Given the description of an element on the screen output the (x, y) to click on. 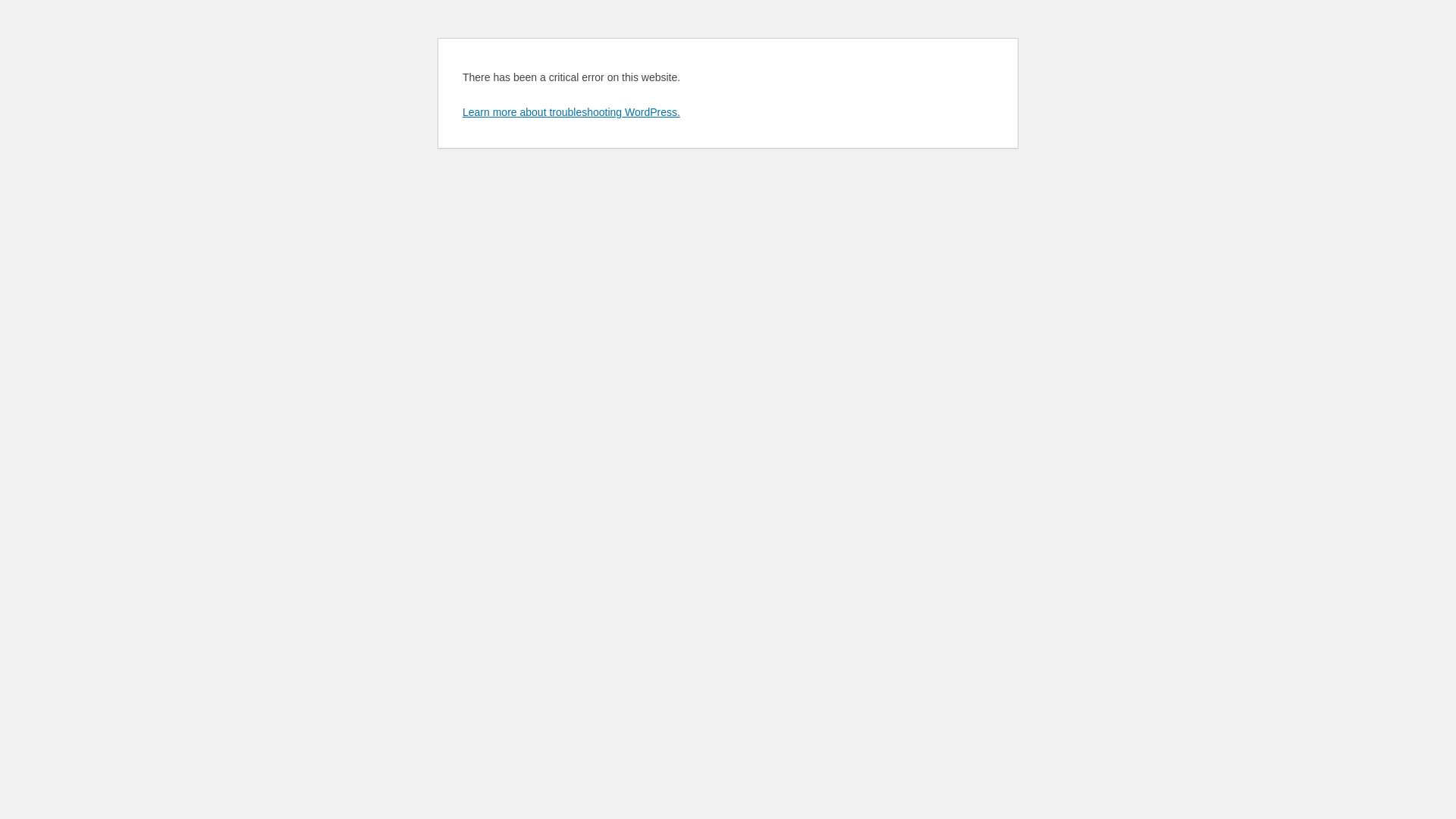
Learn more about troubleshooting WordPress. Element type: text (571, 112)
